Given the description of an element on the screen output the (x, y) to click on. 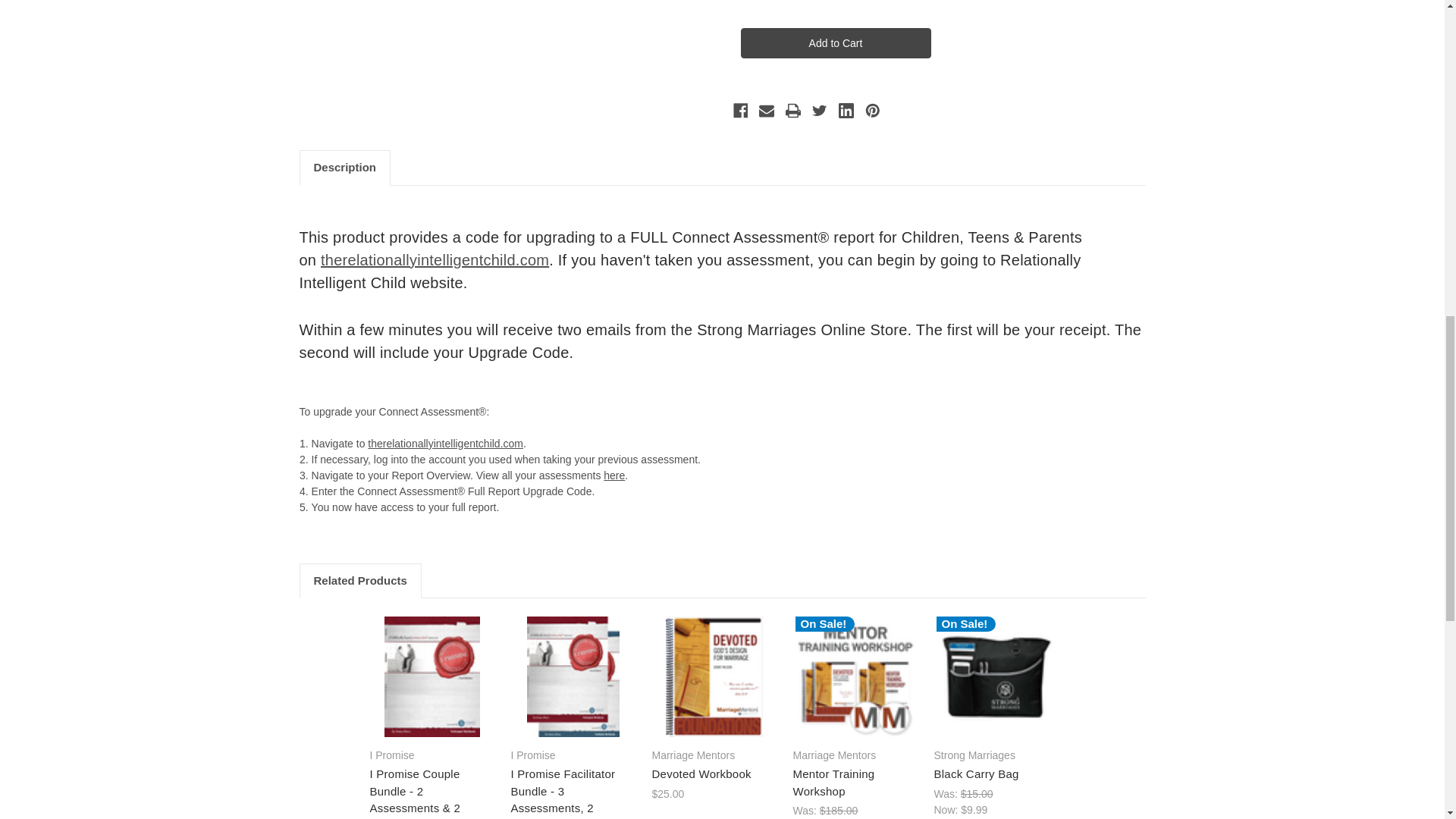
Add to Cart (834, 42)
Add to Cart (834, 42)
Black Carry Bag (996, 676)
Mentor Training Workshop (854, 676)
Devoted Workbook (713, 676)
